Given the description of an element on the screen output the (x, y) to click on. 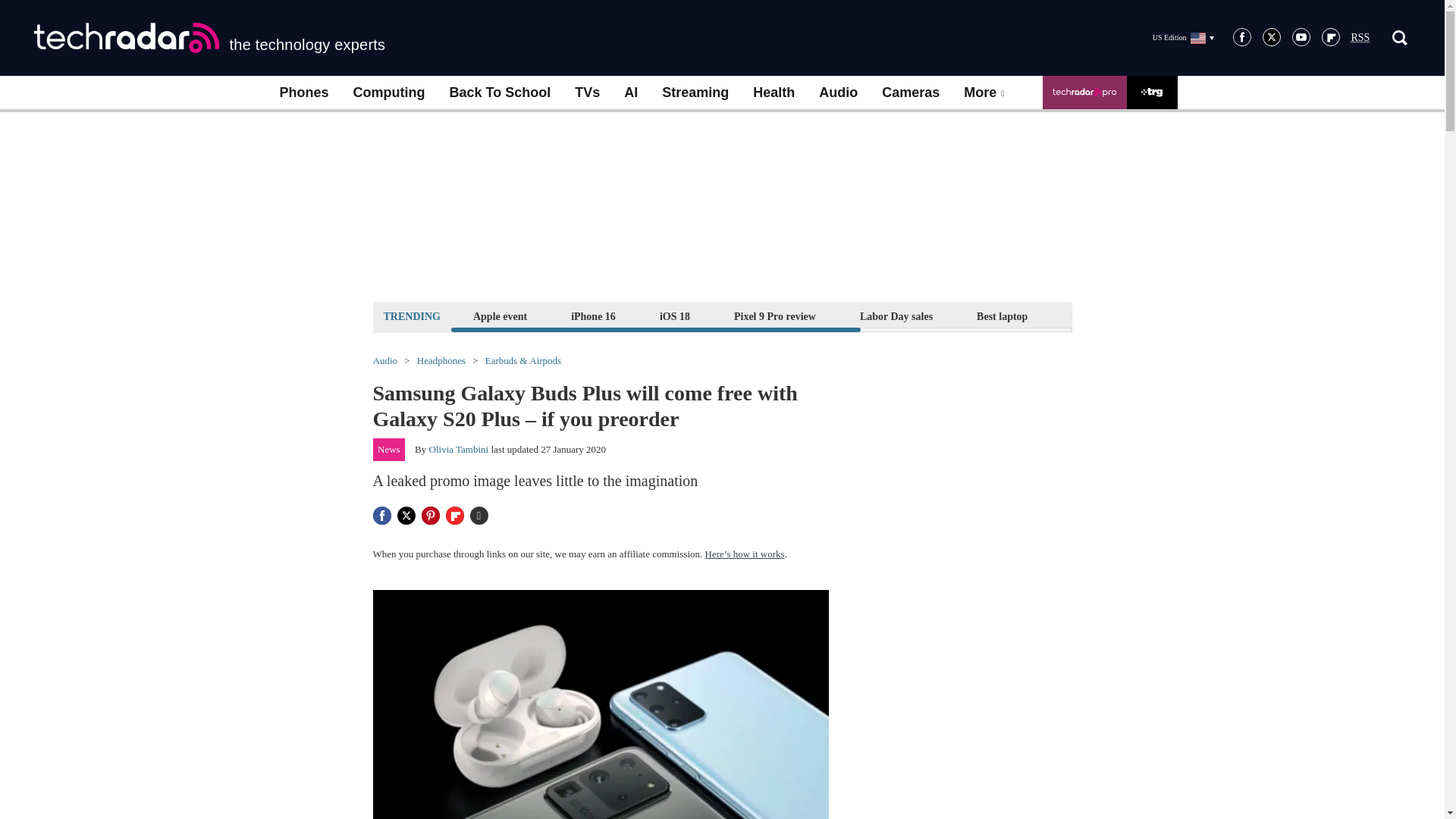
Phones (303, 92)
Cameras (910, 92)
Streaming (695, 92)
TVs (586, 92)
US Edition (1182, 37)
Computing (389, 92)
Back To School (499, 92)
the technology experts (209, 38)
Health (773, 92)
Audio (837, 92)
